Given the description of an element on the screen output the (x, y) to click on. 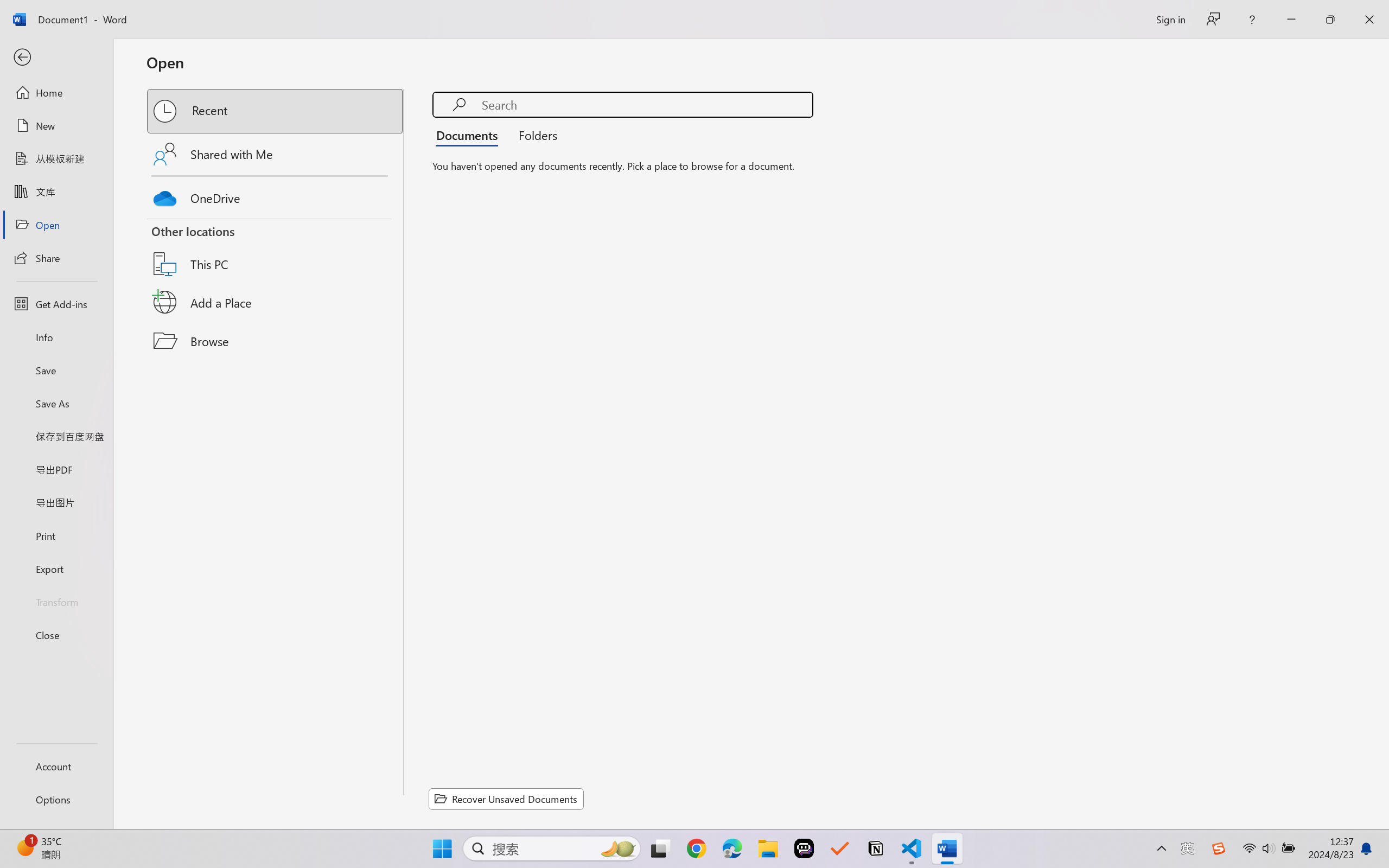
Transform (56, 601)
Back (56, 57)
Get Add-ins (56, 303)
Options (56, 798)
Add a Place (275, 302)
Info (56, 337)
